Given the description of an element on the screen output the (x, y) to click on. 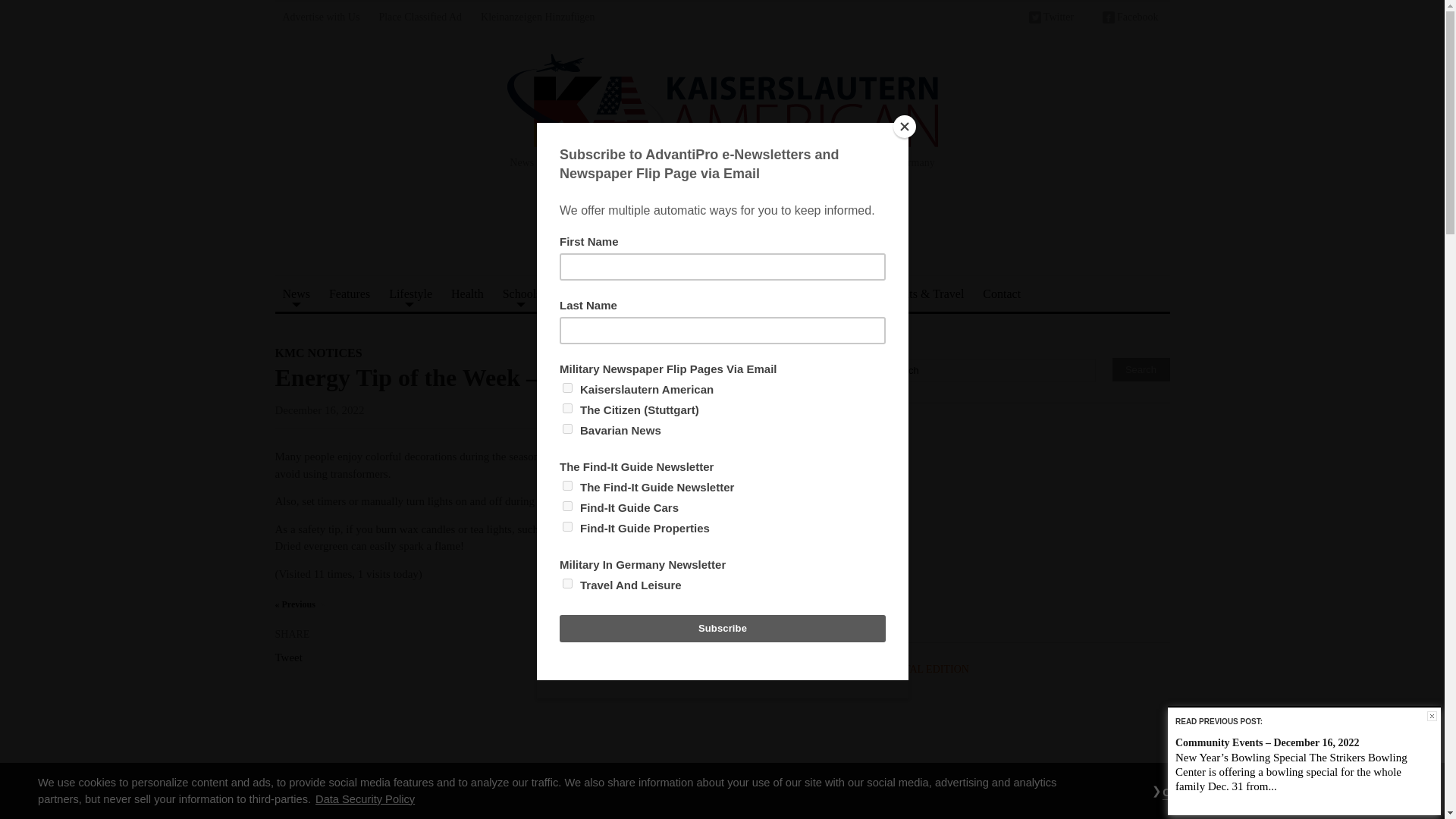
News (296, 294)
Unterwegs - December 16, 2022 (846, 603)
Community Events - December 16, 2022 (294, 603)
Health (468, 294)
Search (989, 370)
Facebook (1130, 19)
Place Classified Ad (419, 19)
Movies (627, 294)
3rd party ad content (721, 230)
Things to do in Germany (410, 294)
3rd party ad content (1024, 524)
Sports (574, 294)
Archives (687, 294)
Search (1140, 369)
Lifestyle (410, 294)
